Given the description of an element on the screen output the (x, y) to click on. 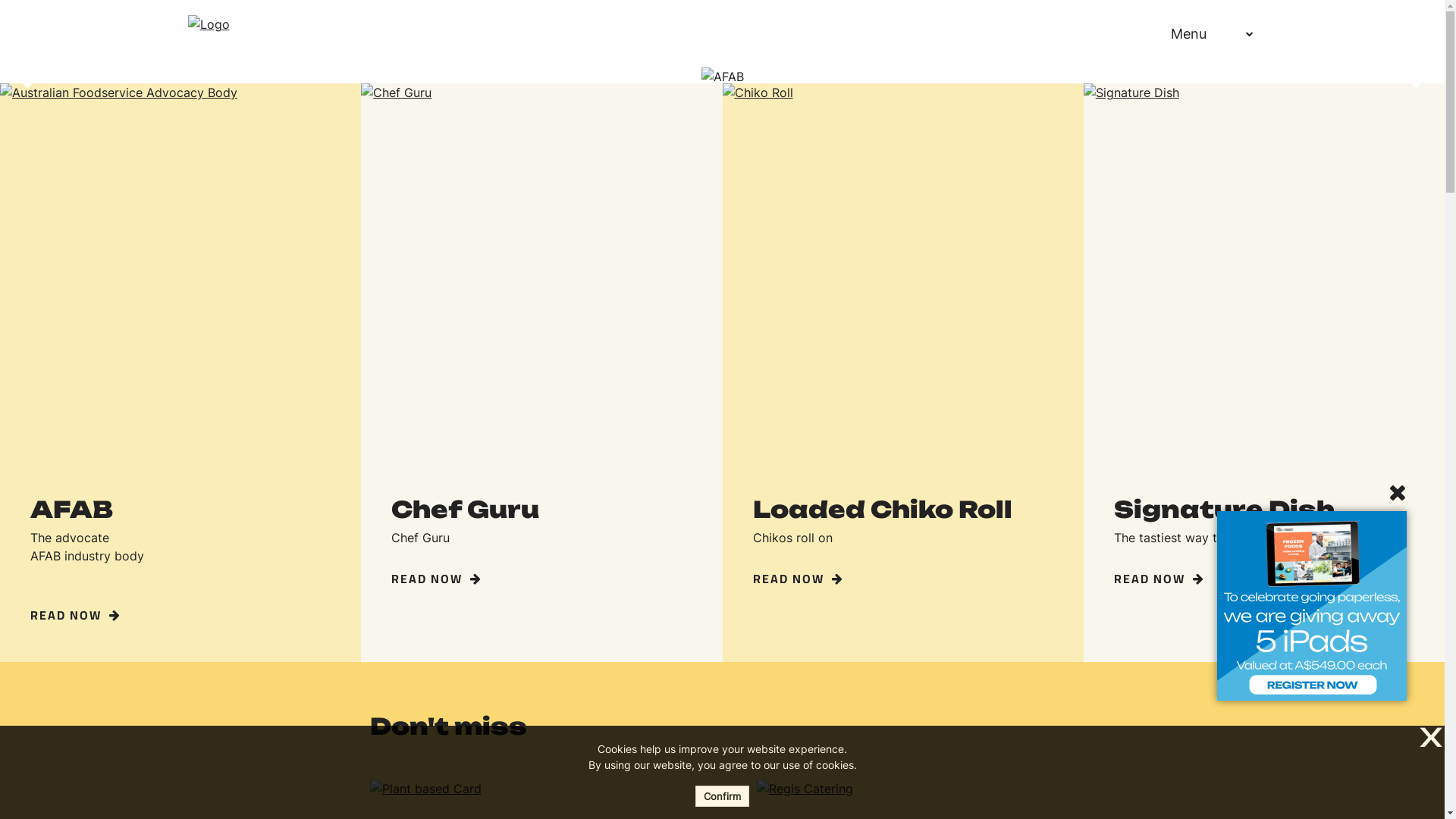
Loaded Chiko Roll
Chikos roll on Element type: text (902, 522)
AFAB
The advocate
AFAB industry body
  Element type: text (180, 540)
READ NOW Element type: text (797, 578)
READ NOW Element type: text (1158, 578)
Menu Element type: text (1194, 32)
READ NOW Element type: text (436, 578)
Confirm Element type: text (722, 795)
Signature Dish
The tastiest way to establish your brand  Element type: text (1263, 522)
Chef Guru
Chef Guru Element type: text (541, 522)
X Element type: text (1427, 738)
Read More Element type: text (418, 82)
READ NOW Element type: text (75, 614)
